Given the description of an element on the screen output the (x, y) to click on. 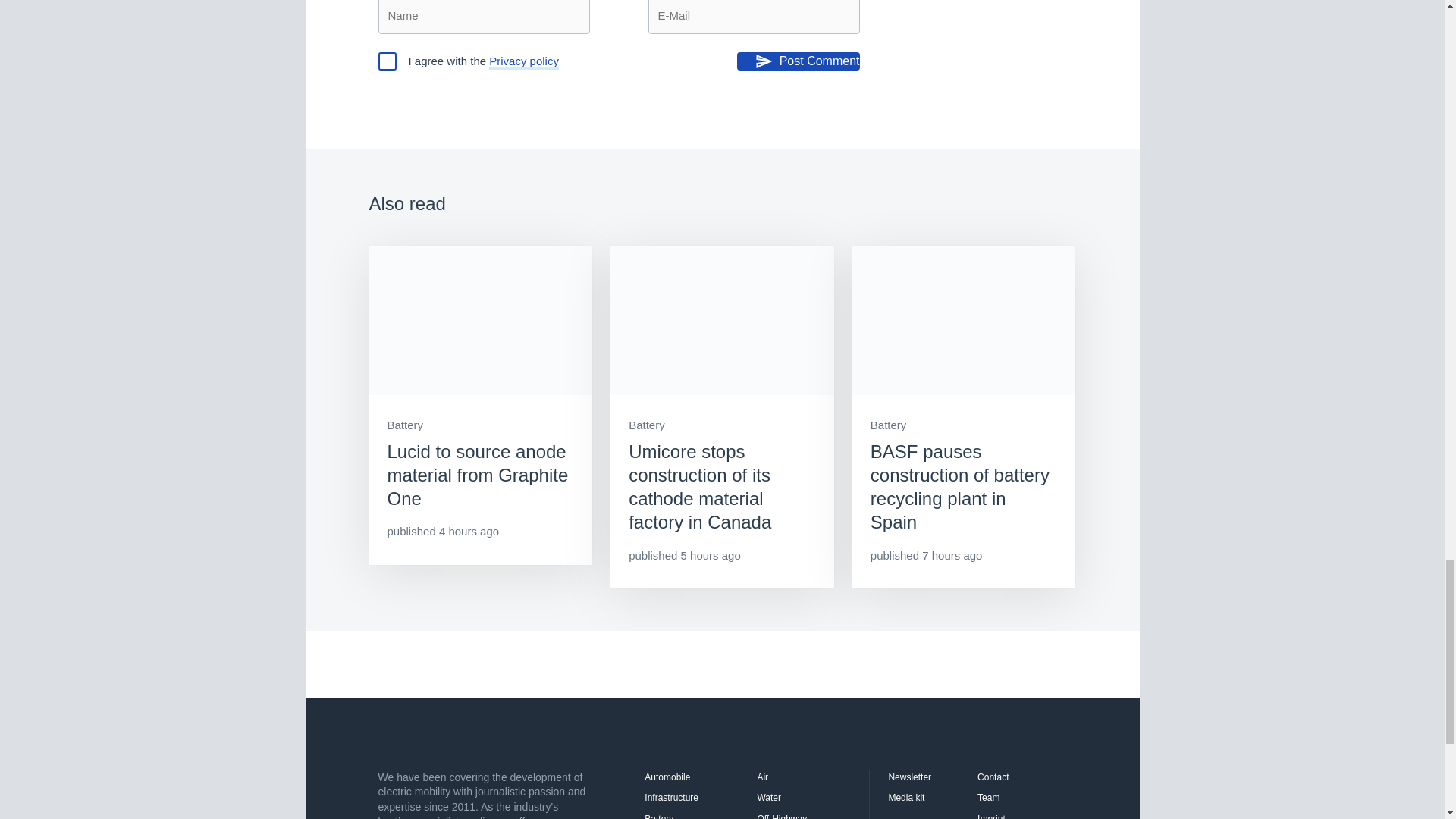
Post Comment (798, 61)
